Given the description of an element on the screen output the (x, y) to click on. 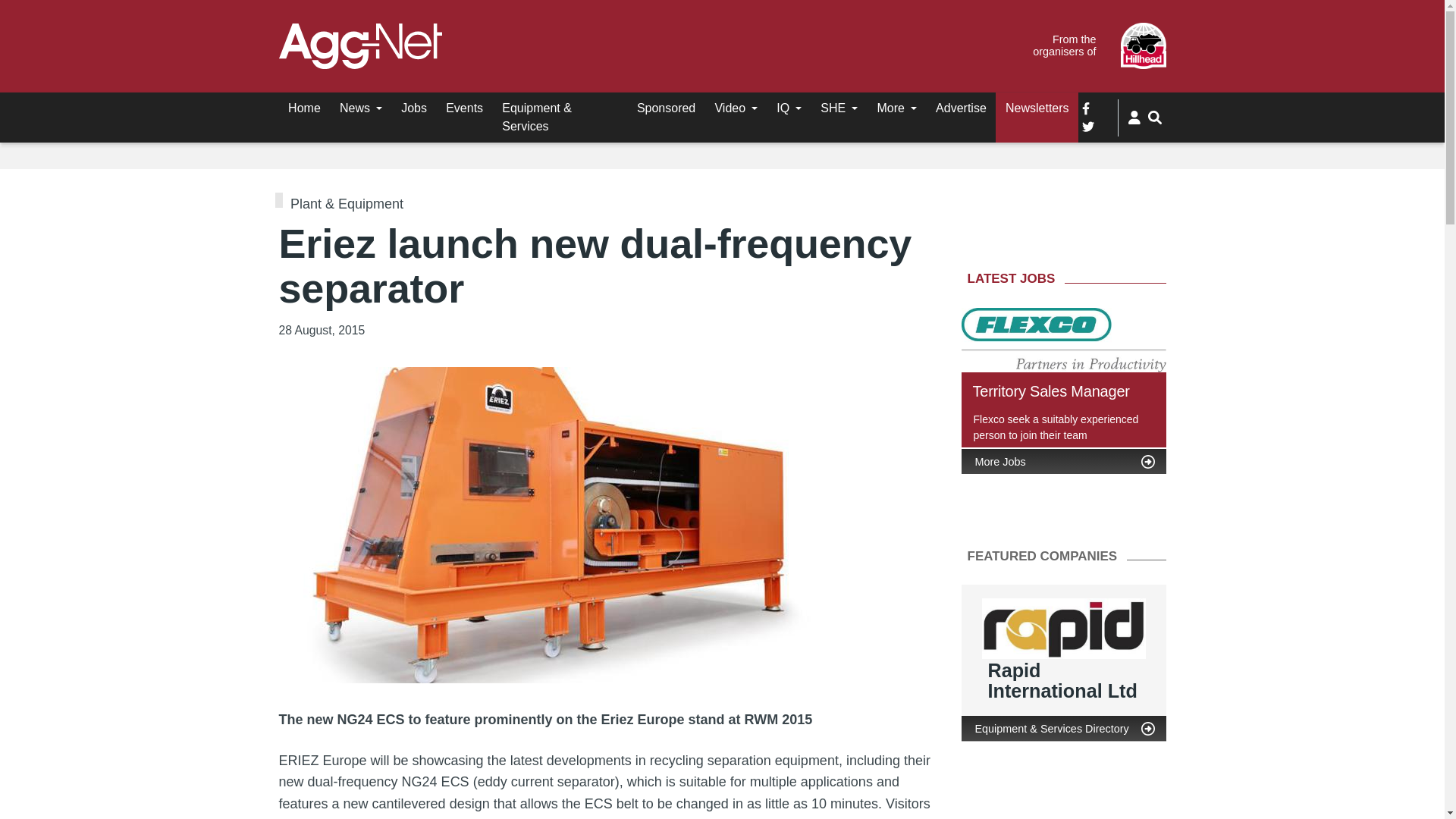
Sponsored (665, 108)
Jobs (413, 108)
IQ (788, 108)
SHE (838, 108)
Newsletters (1036, 108)
Home (304, 108)
Events (464, 108)
News (360, 108)
Advertise (960, 108)
More (896, 108)
